Given the description of an element on the screen output the (x, y) to click on. 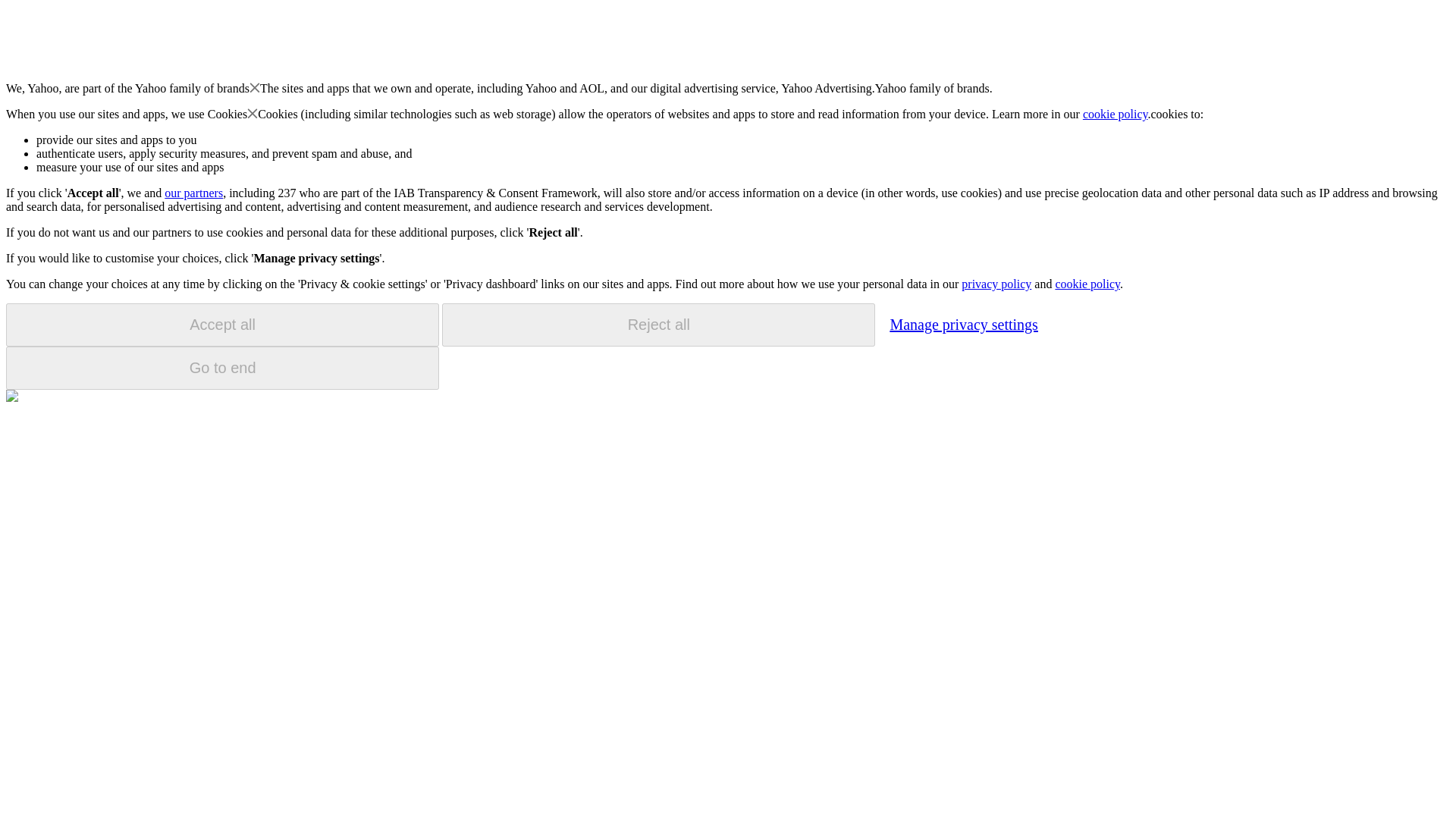
Manage privacy settings (963, 323)
privacy policy (995, 283)
cookie policy (1086, 283)
Go to end (222, 367)
Accept all (222, 324)
cookie policy (1115, 113)
our partners (193, 192)
Reject all (658, 324)
